Given the description of an element on the screen output the (x, y) to click on. 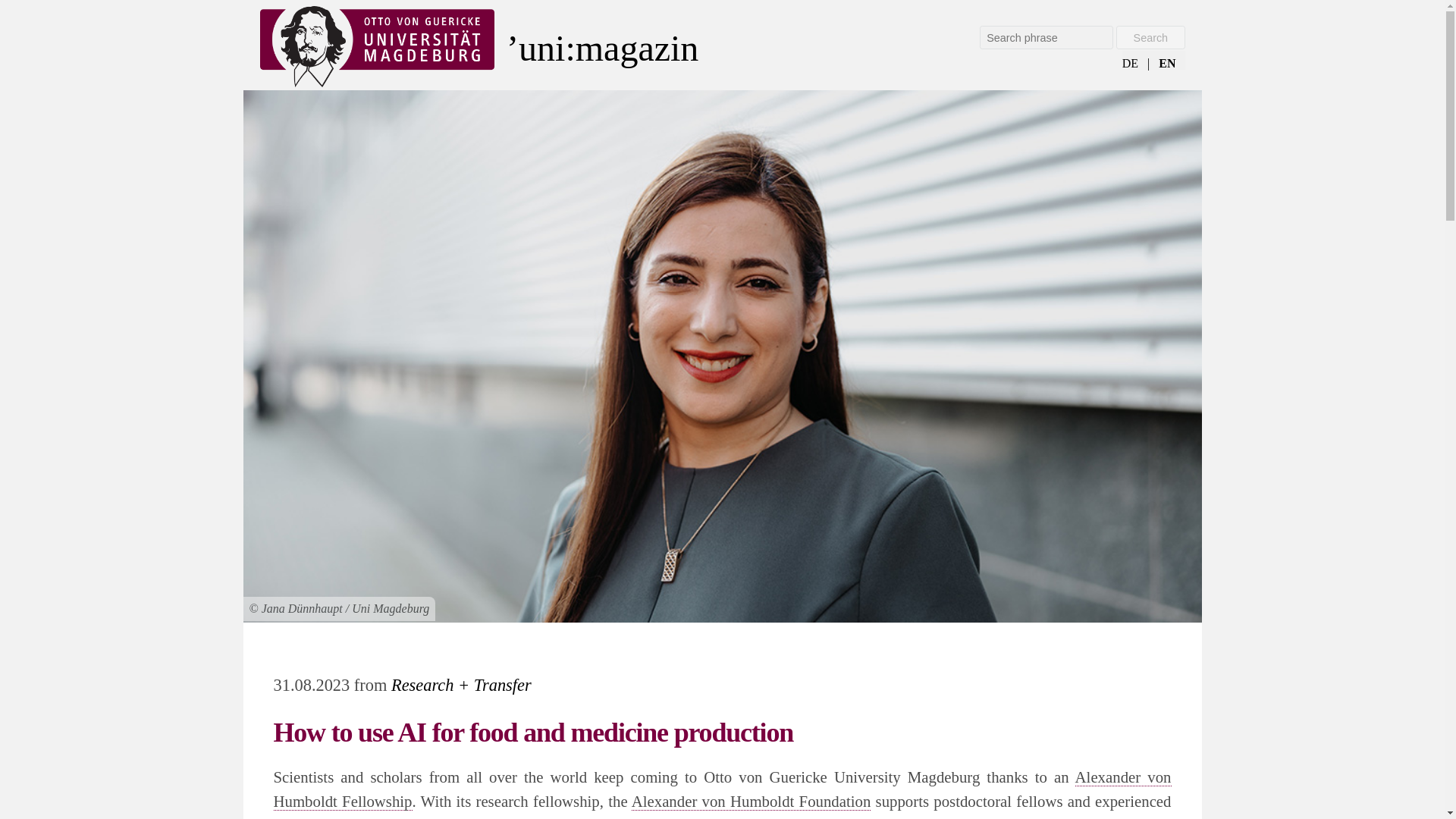
Zur Startseite (377, 47)
Zur Startseite (667, 47)
uni:magazin (667, 47)
Alexander von Humboldt Foundation (750, 801)
